Given the description of an element on the screen output the (x, y) to click on. 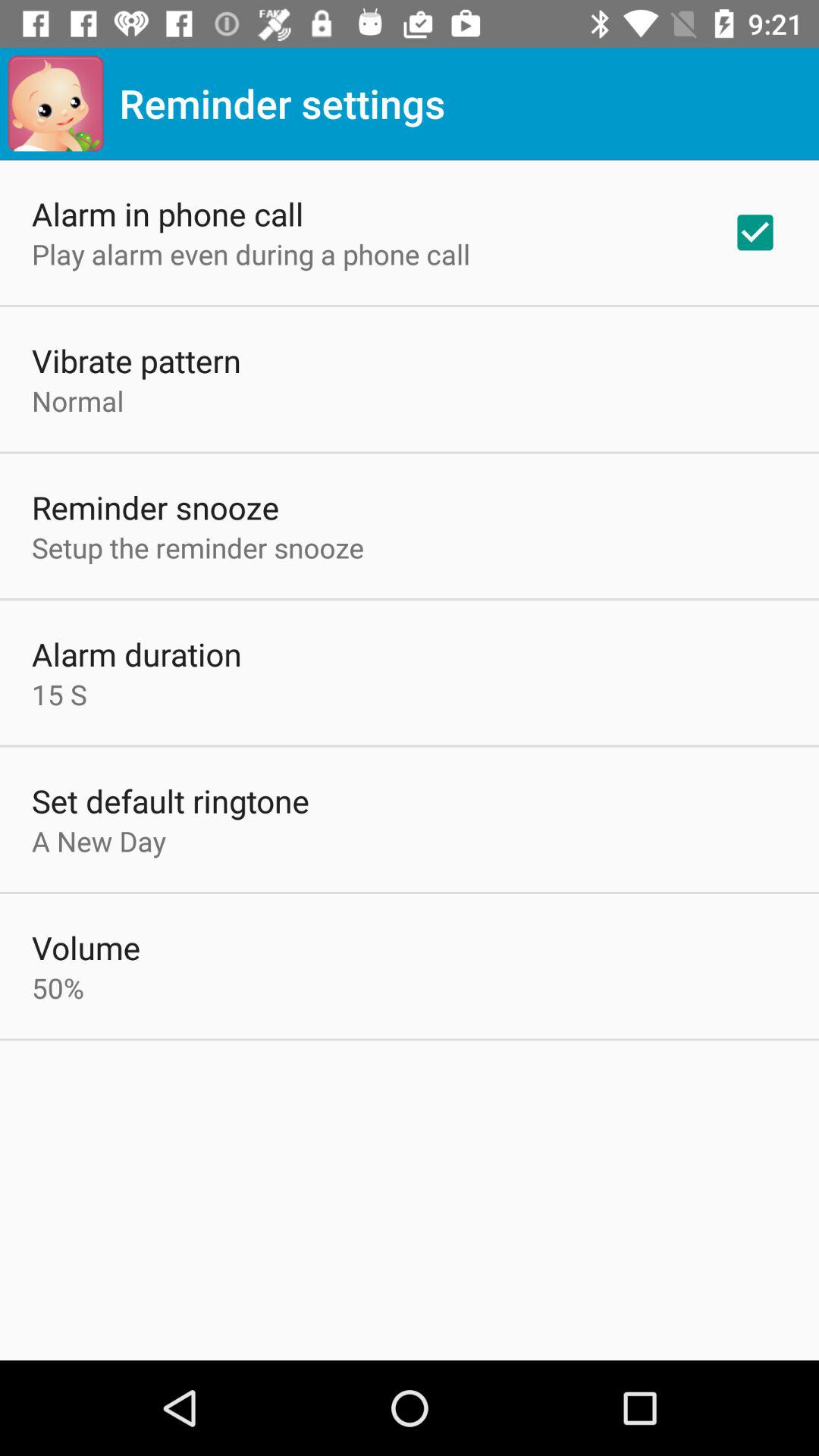
scroll until 50% icon (57, 987)
